Given the description of an element on the screen output the (x, y) to click on. 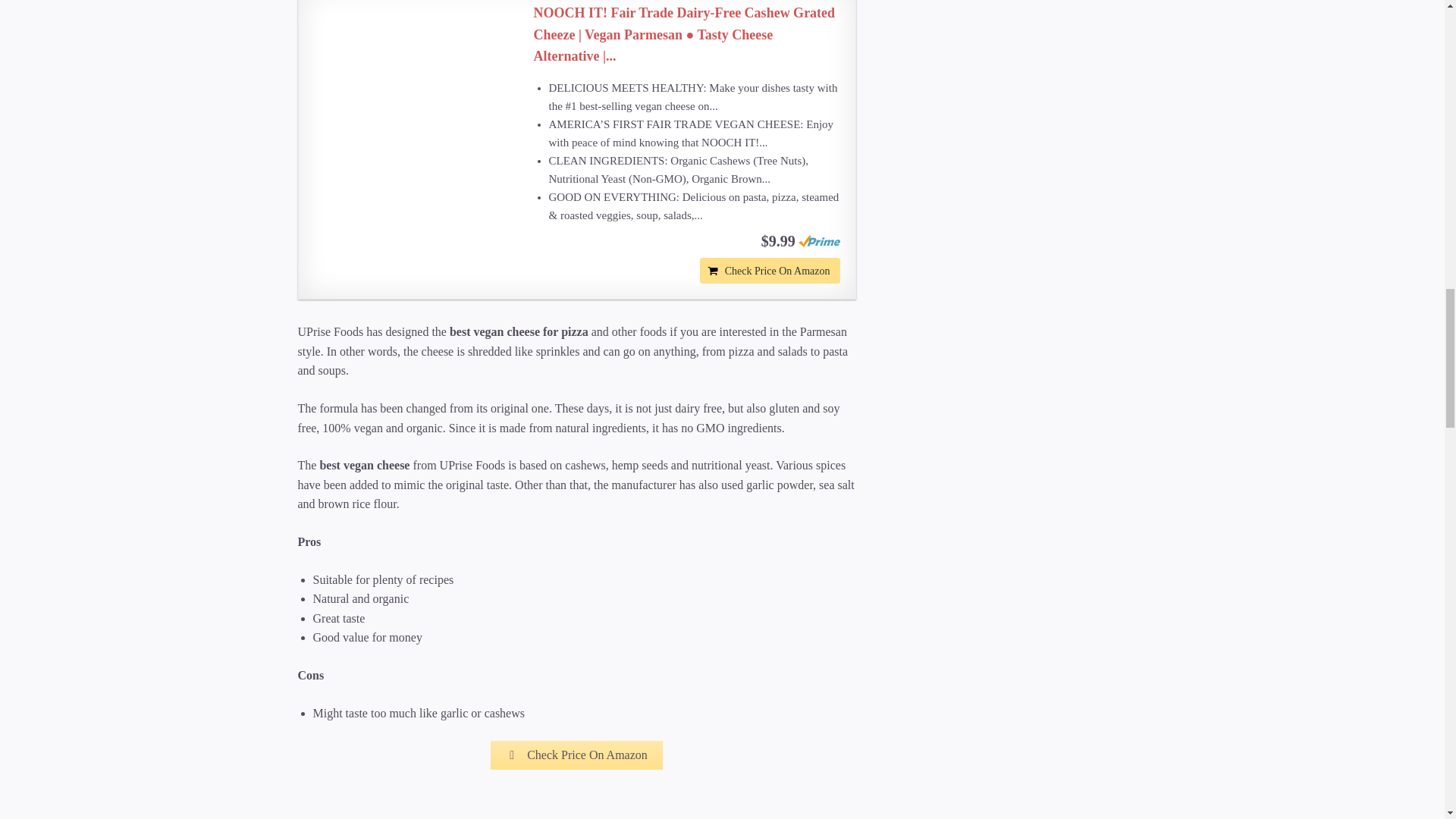
Check Price On Amazon (770, 270)
Check Price On Amazon (576, 755)
Check Price On Amazon (770, 270)
Amazon Prime (818, 241)
